Given the description of an element on the screen output the (x, y) to click on. 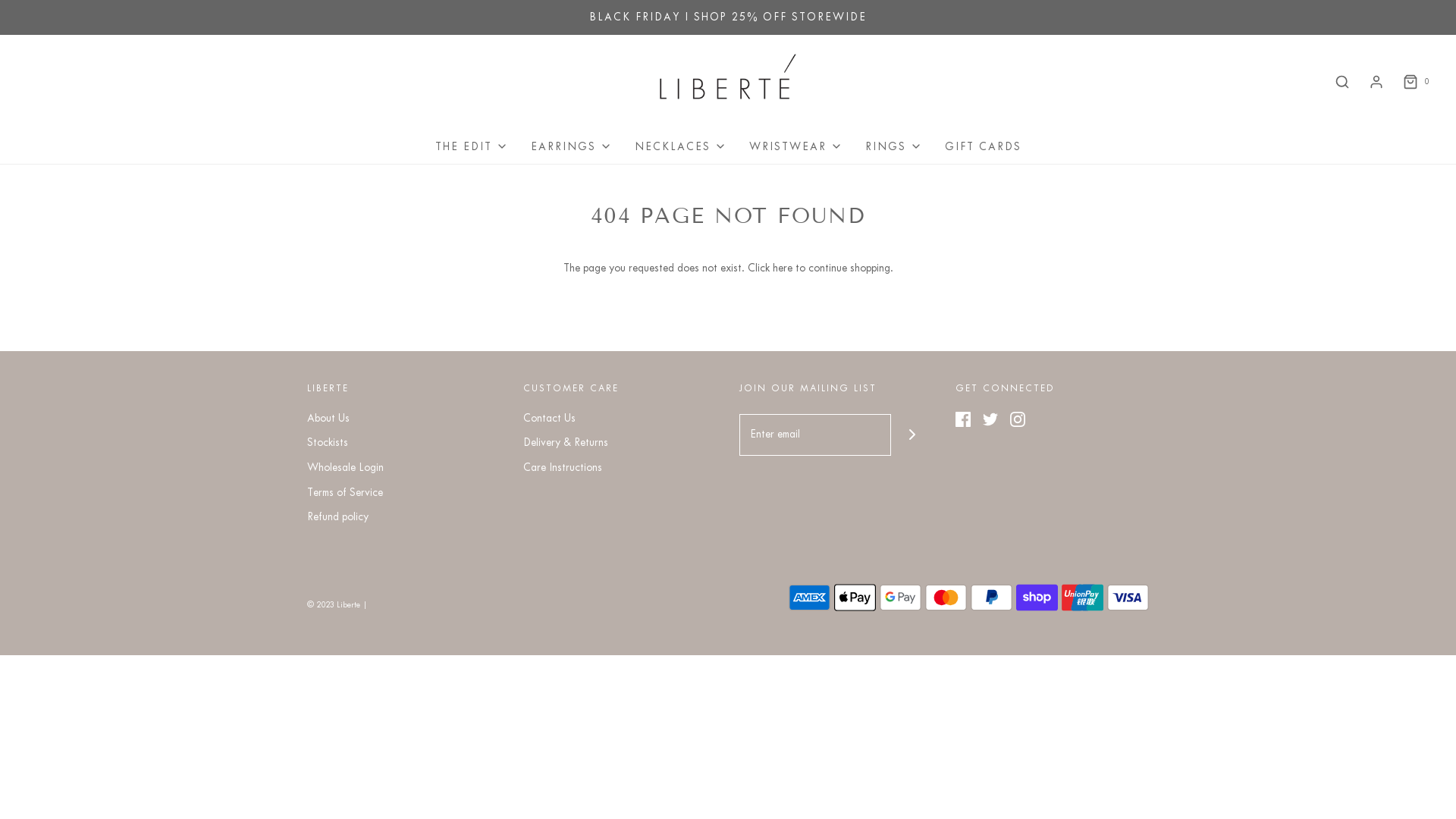
Contact Us Element type: text (549, 420)
Refund policy Element type: text (337, 519)
Stockists Element type: text (327, 445)
Facebook icon Element type: text (962, 418)
THE EDIT Element type: text (471, 146)
Log in Element type: hover (1376, 81)
Twitter icon Element type: text (989, 418)
0 Element type: text (1414, 82)
GIFT CARDS Element type: text (982, 146)
BLACK FRIDAY I SHOP 25% OFF STOREWIDE Element type: text (727, 16)
Delivery & Returns Element type: text (565, 445)
WRISTWEAR Element type: text (795, 146)
NECKLACES Element type: text (679, 146)
Search Element type: hover (1341, 82)
Terms of Service Element type: text (344, 495)
RINGS Element type: text (892, 146)
Instagram icon Element type: text (1017, 418)
About Us Element type: text (328, 420)
Care Instructions Element type: text (562, 470)
Wholesale Login Element type: text (345, 470)
here Element type: text (781, 267)
EARRINGS Element type: text (570, 146)
